Given the description of an element on the screen output the (x, y) to click on. 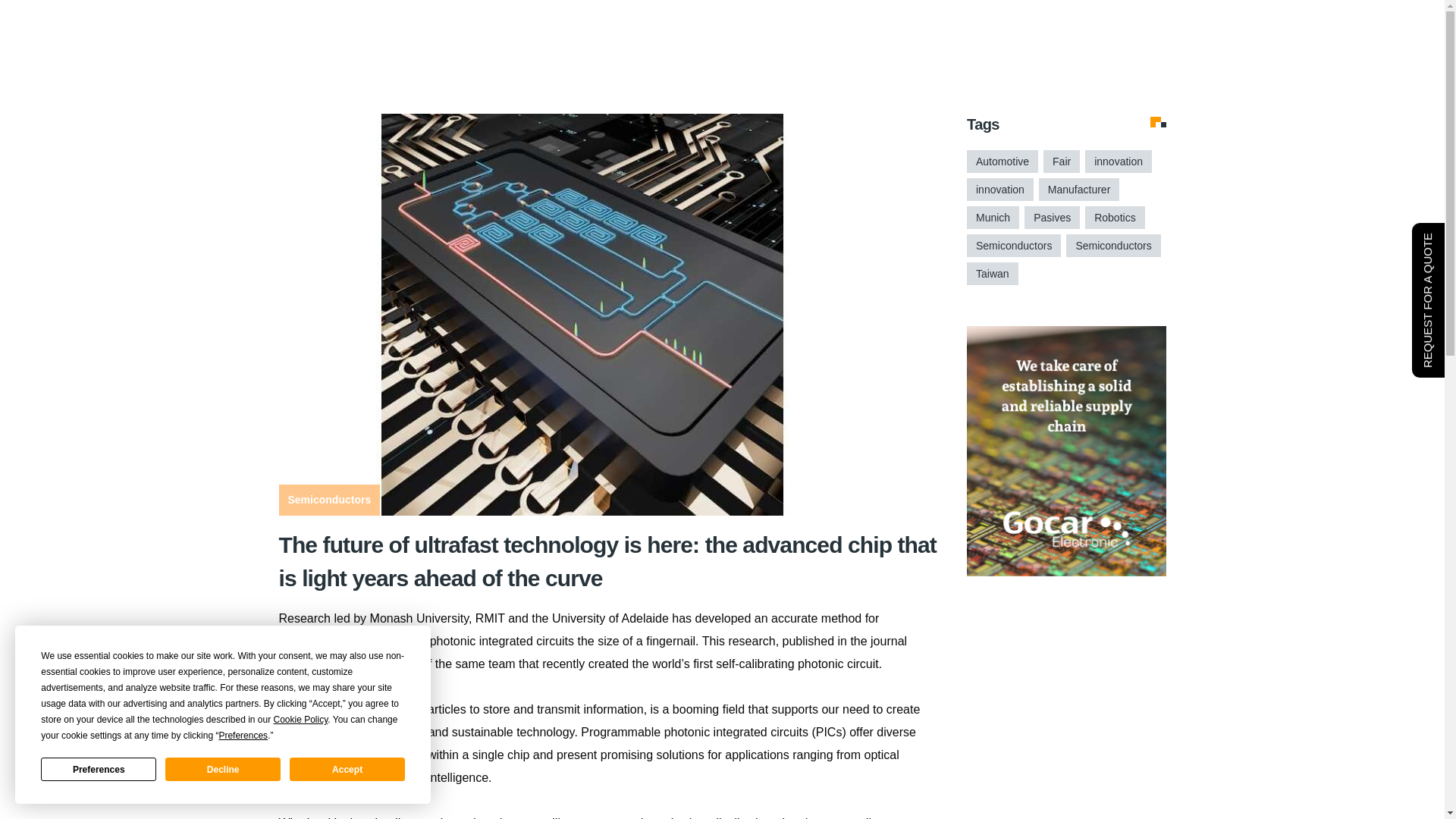
Preferences (97, 769)
Decline (223, 769)
Accept (346, 769)
Semiconductors (329, 499)
